Given the description of an element on the screen output the (x, y) to click on. 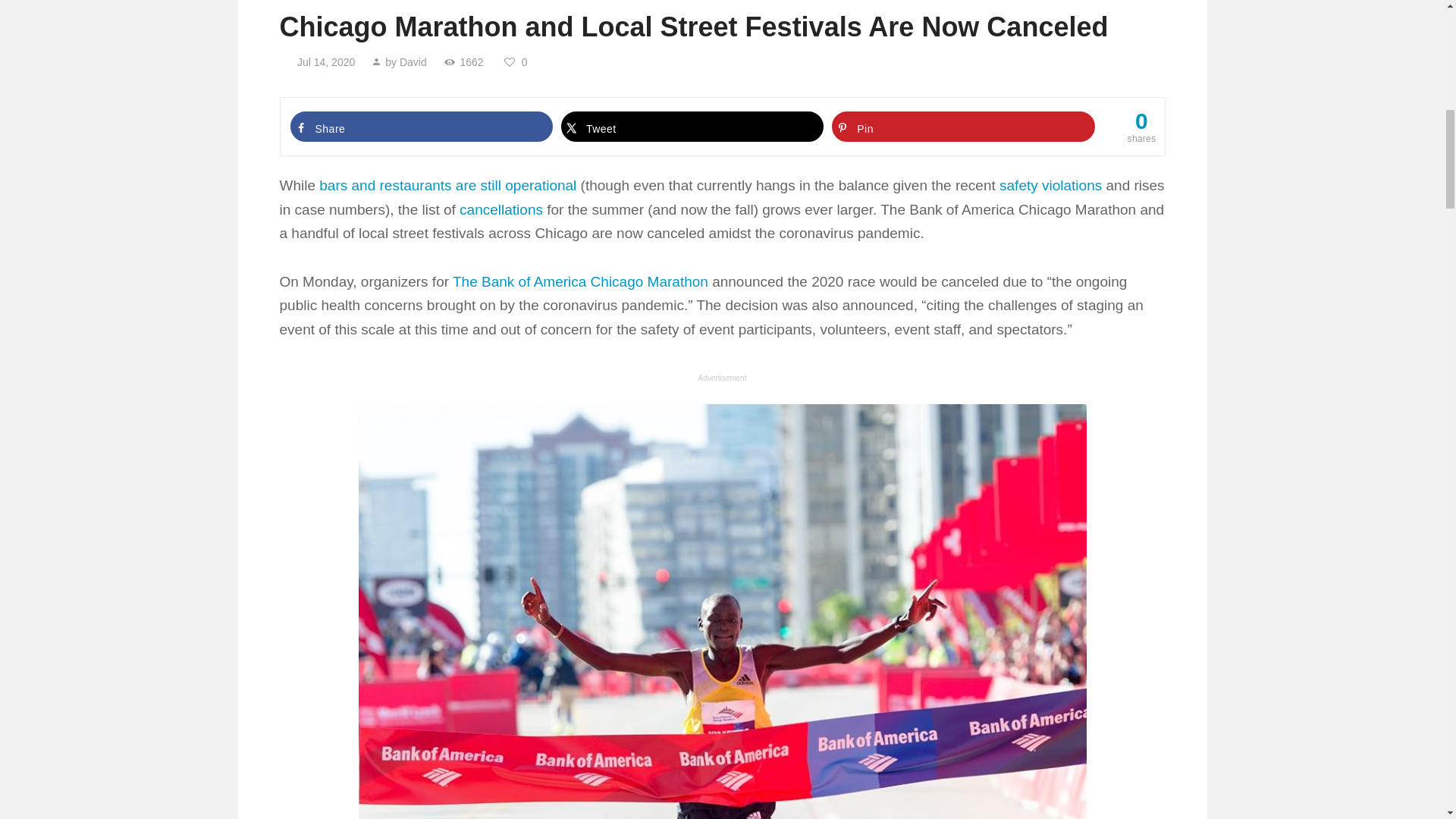
Save to Pinterest (962, 126)
Like (517, 61)
Share on Facebook (421, 126)
Share on X (692, 126)
